Given the description of an element on the screen output the (x, y) to click on. 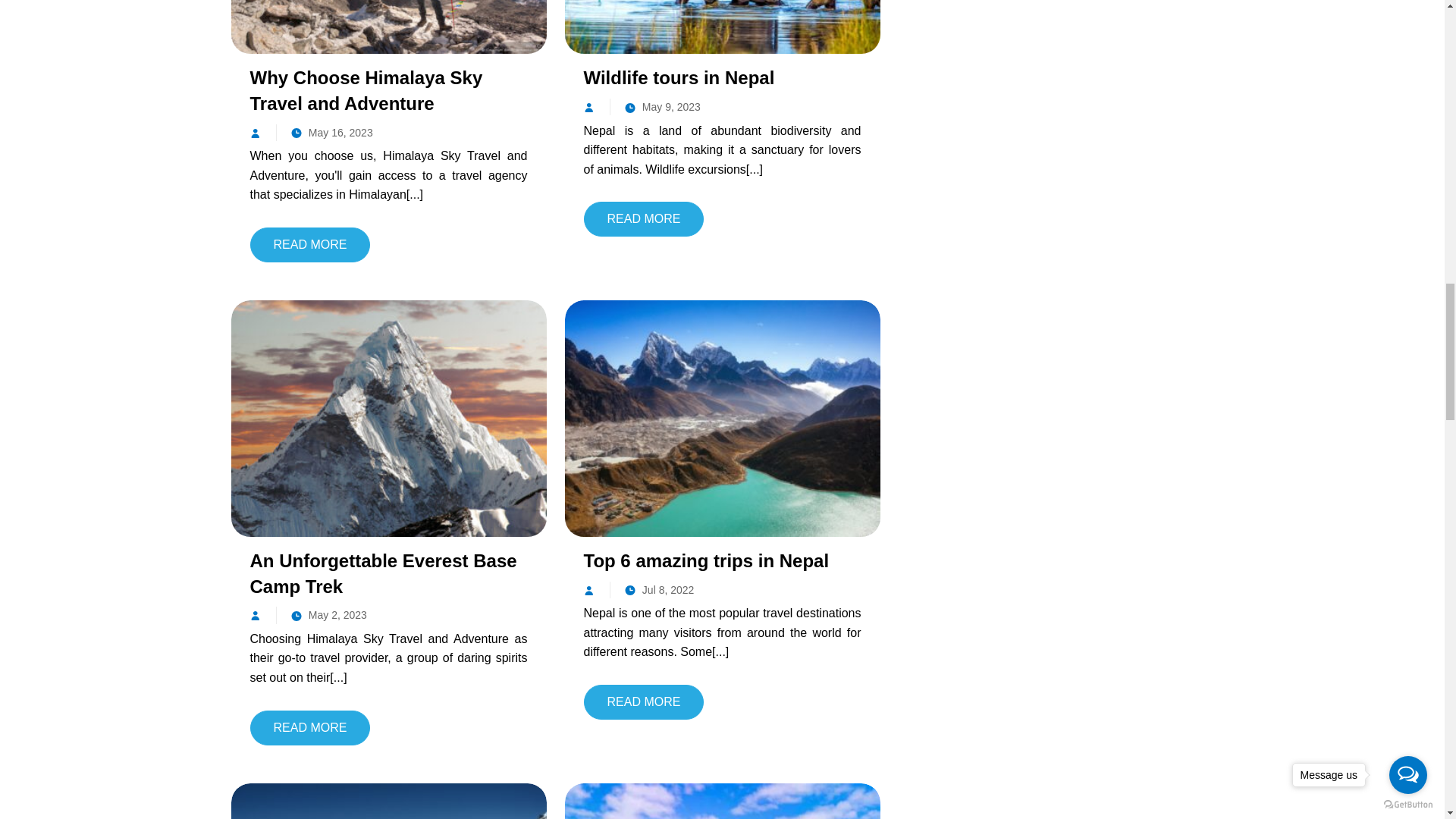
An Unforgettable Everest Base Camp Trek (388, 417)
Top 6 amazing trips in Nepal (721, 417)
